Given the description of an element on the screen output the (x, y) to click on. 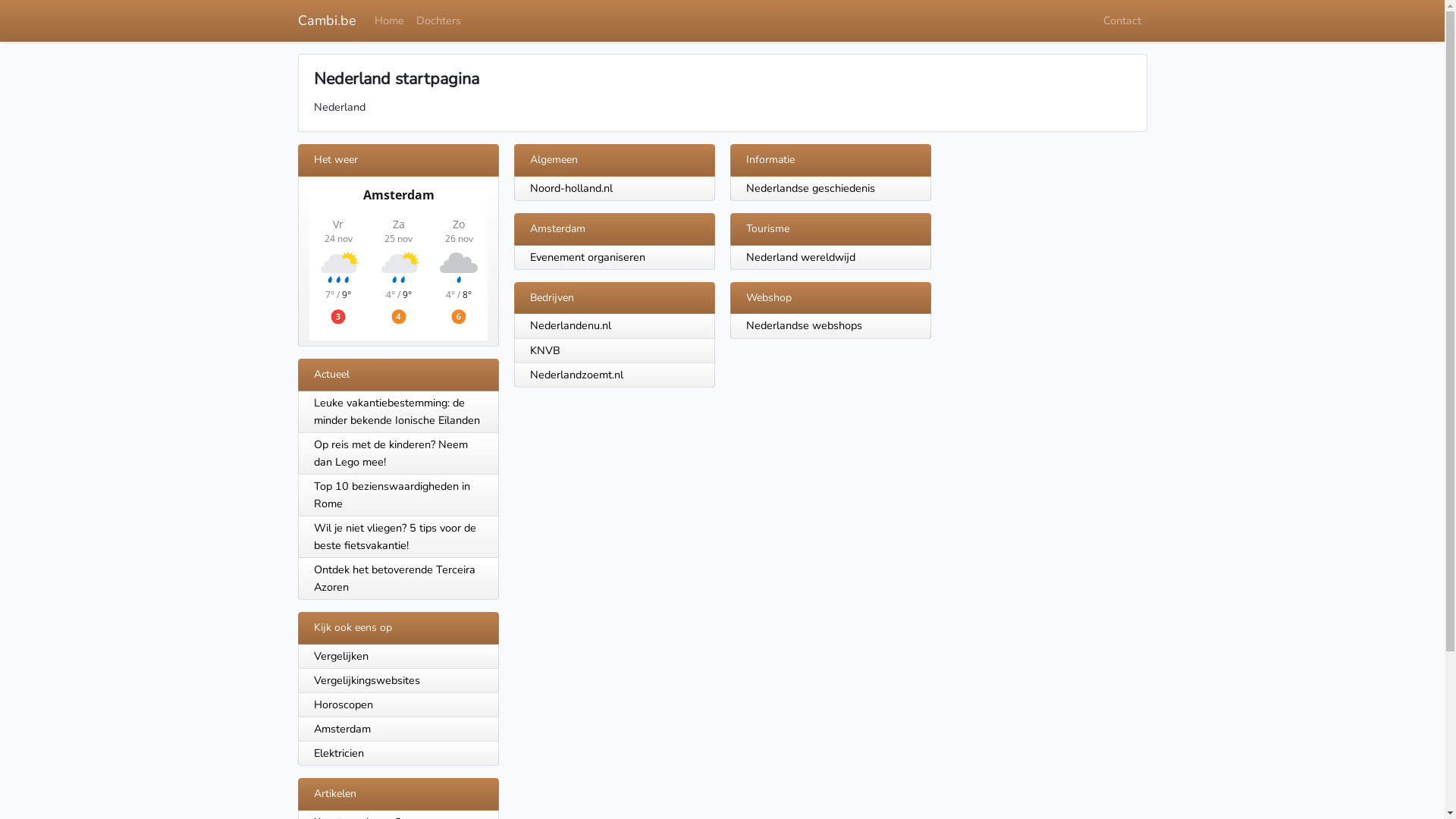
Nederland wereldwijd Element type: text (800, 256)
Home Element type: text (389, 20)
Vergelijken Element type: text (397, 656)
Ontdek het betoverende Terceira Azoren Element type: text (397, 578)
Dochters Element type: text (437, 20)
Evenement organiseren Element type: text (586, 256)
KNVB Element type: text (544, 349)
Cambi.be Element type: text (326, 20)
Contact Element type: text (1121, 20)
Noord-holland.nl Element type: text (570, 187)
Vergelijkingswebsites Element type: text (397, 680)
Nederlandenu.nl Element type: text (569, 324)
Wil je niet vliegen? 5 tips voor de beste fietsvakantie! Element type: text (397, 537)
Top 10 bezienswaardigheden in Rome Element type: text (397, 495)
Amsterdam Element type: text (397, 729)
Op reis met de kinderen? Neem dan Lego mee! Element type: text (397, 453)
Elektricien Element type: text (397, 753)
Nederlandzoemt.nl Element type: text (575, 374)
Nederlandse webshops Element type: text (804, 324)
Horoscopen Element type: text (397, 705)
Nederlandse geschiedenis Element type: text (810, 187)
